Given the description of an element on the screen output the (x, y) to click on. 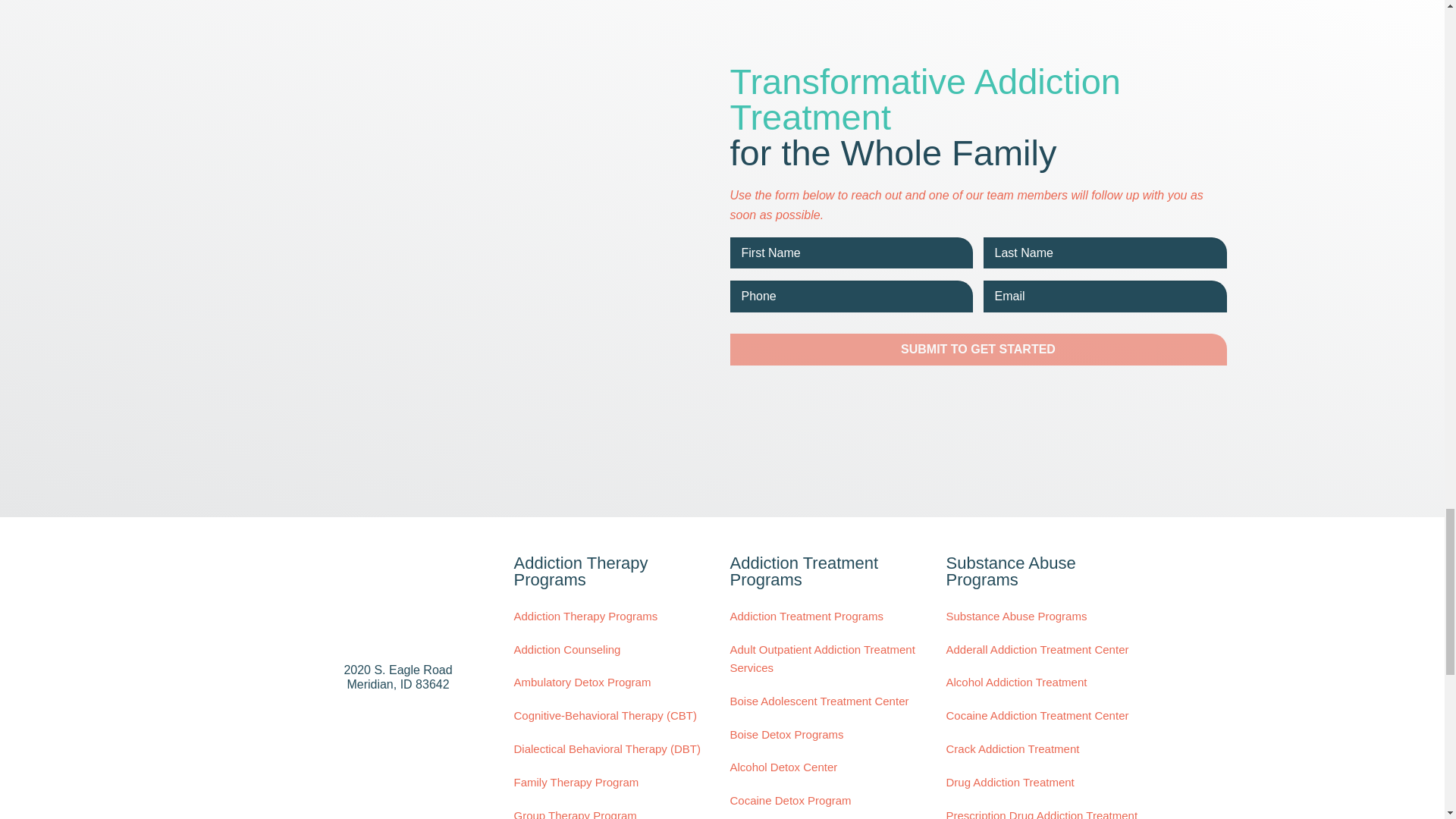
Addiction Therapy Programs (607, 616)
Submit to Get Started (977, 349)
Addiction Counseling (607, 649)
Ambulatory Detox Program (607, 682)
